Given the description of an element on the screen output the (x, y) to click on. 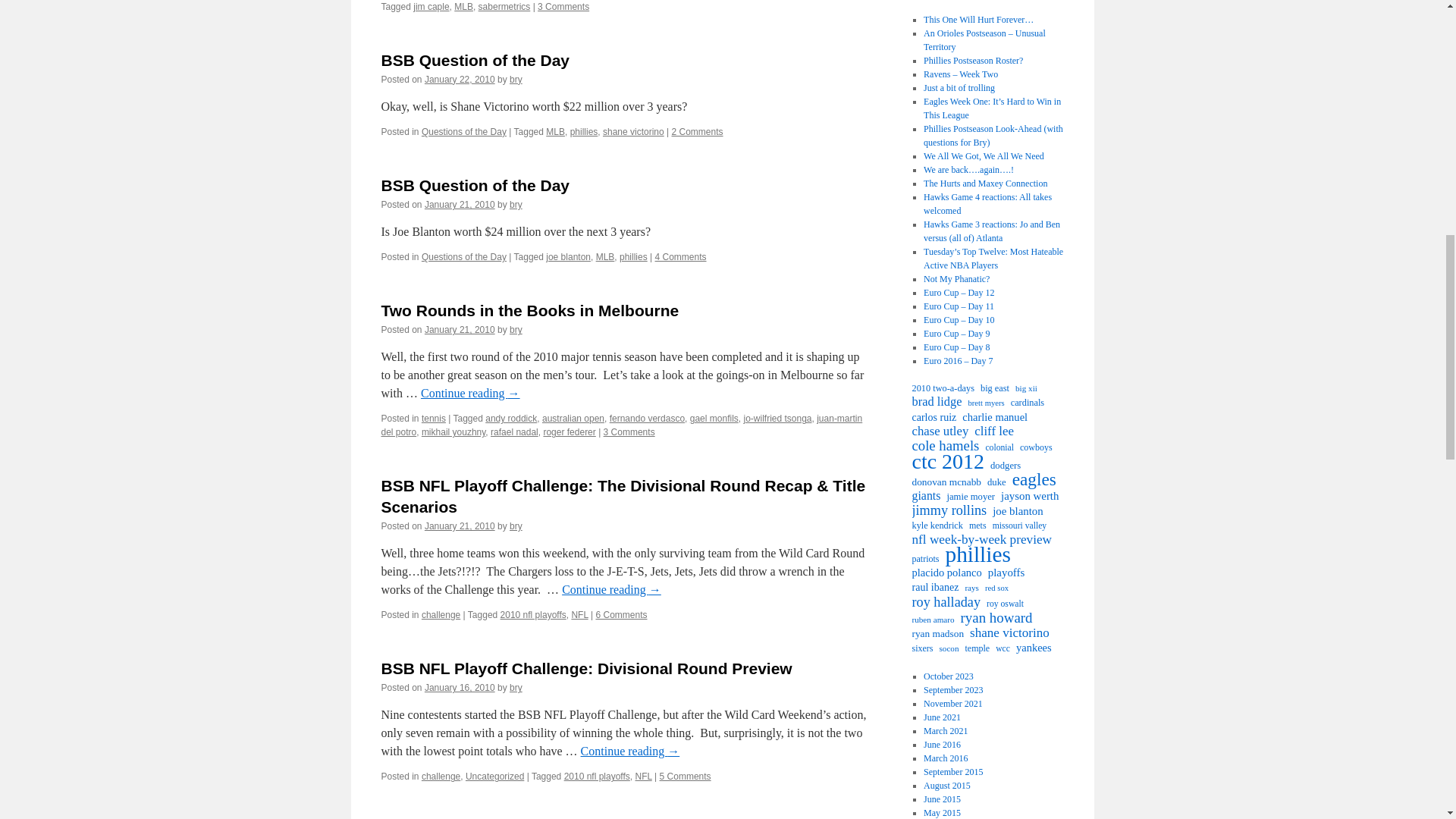
View all posts by bry (515, 525)
View all posts by bry (515, 204)
View all posts by bry (515, 687)
10:05 am (460, 79)
2:45 pm (460, 329)
View all posts by bry (515, 79)
4:08 pm (460, 204)
View all posts by bry (515, 329)
2:34 pm (460, 687)
11:09 am (460, 525)
